Given the description of an element on the screen output the (x, y) to click on. 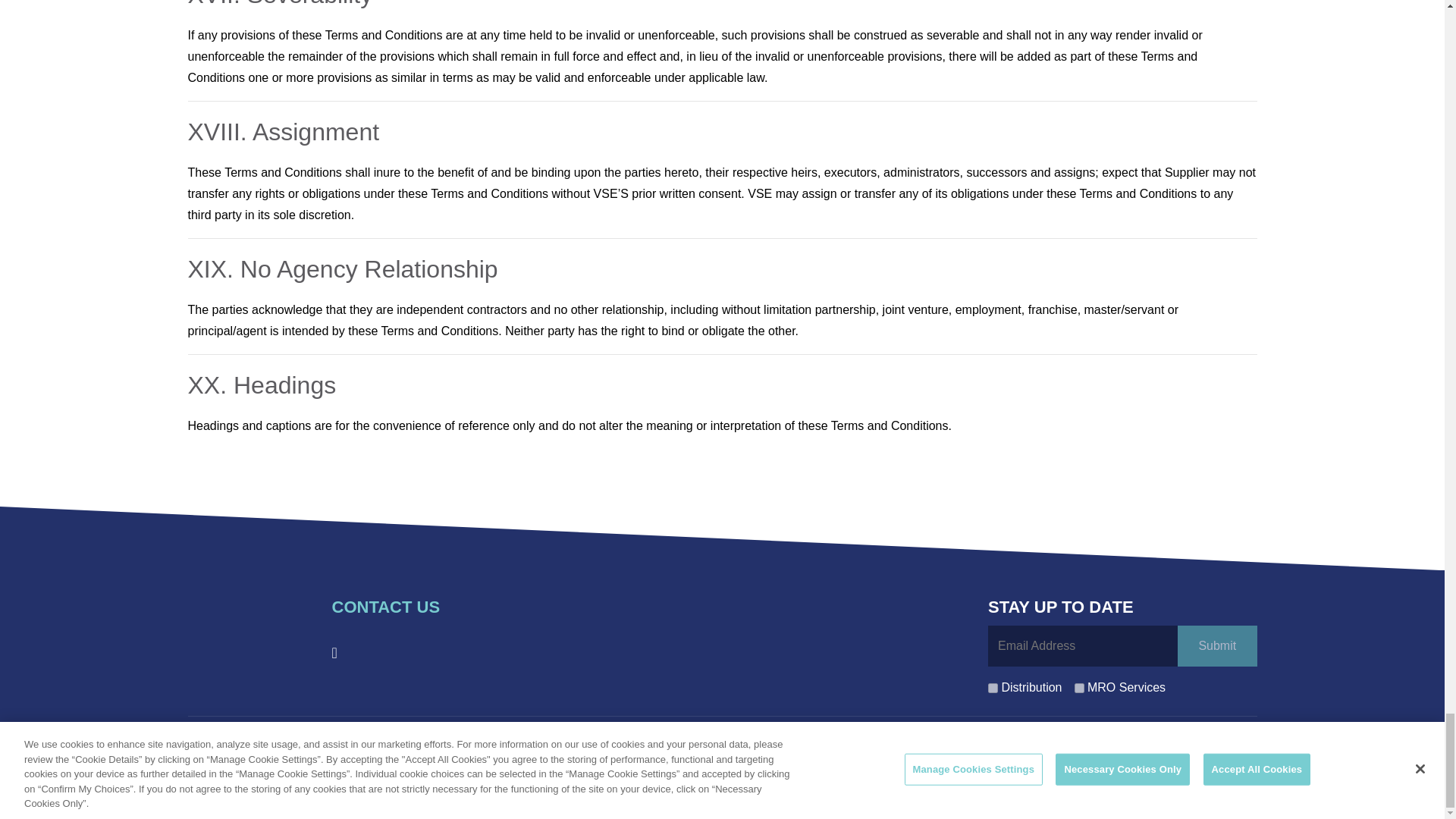
Distribution (992, 687)
MRO Services (1078, 687)
